Given the description of an element on the screen output the (x, y) to click on. 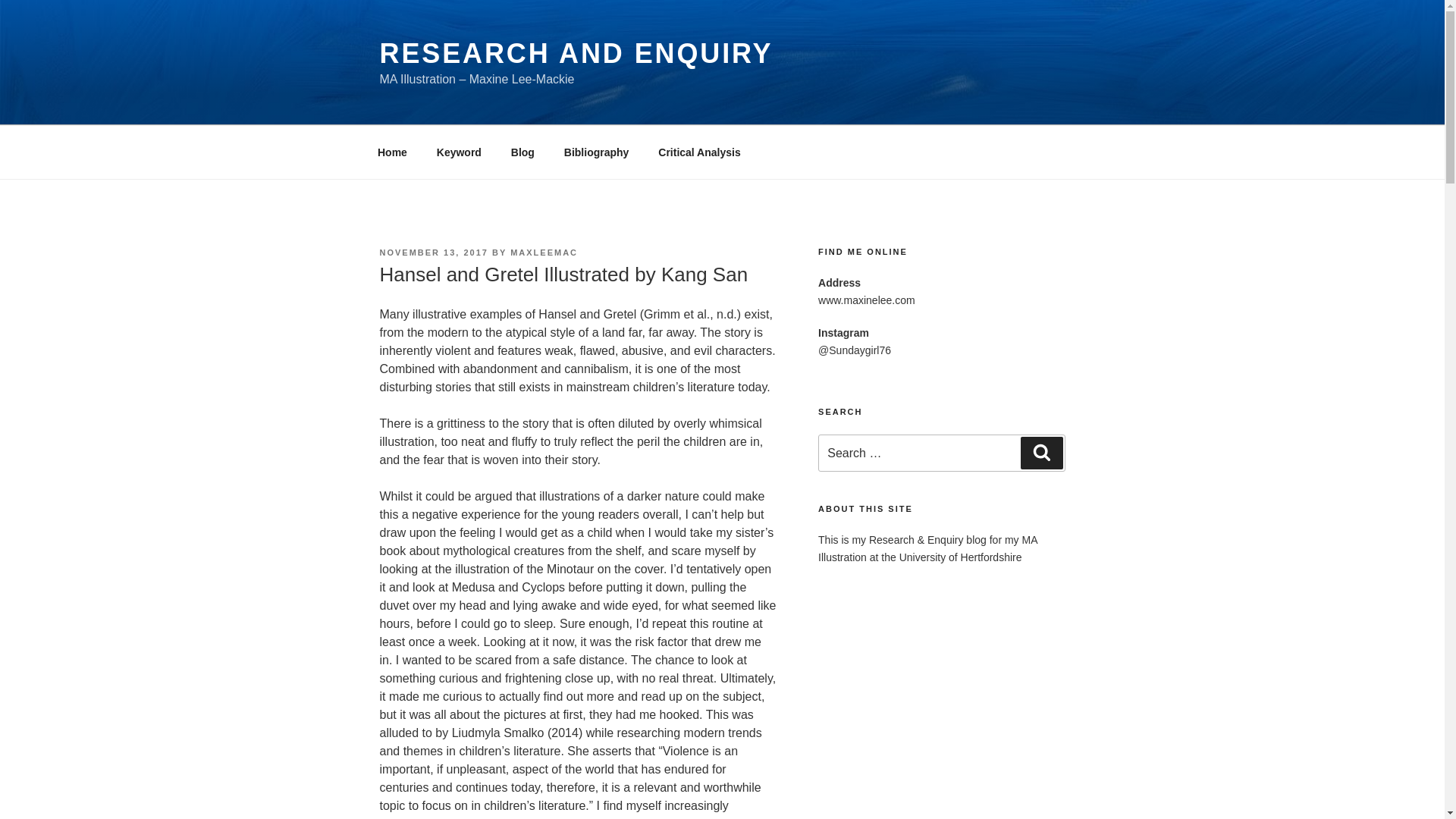
Blog (522, 151)
MAXLEEMAC (544, 252)
Keyword (459, 151)
NOVEMBER 13, 2017 (432, 252)
Search (1041, 452)
RESEARCH AND ENQUIRY (575, 52)
Home (392, 151)
Critical Analysis (699, 151)
Bibliography (596, 151)
